Given the description of an element on the screen output the (x, y) to click on. 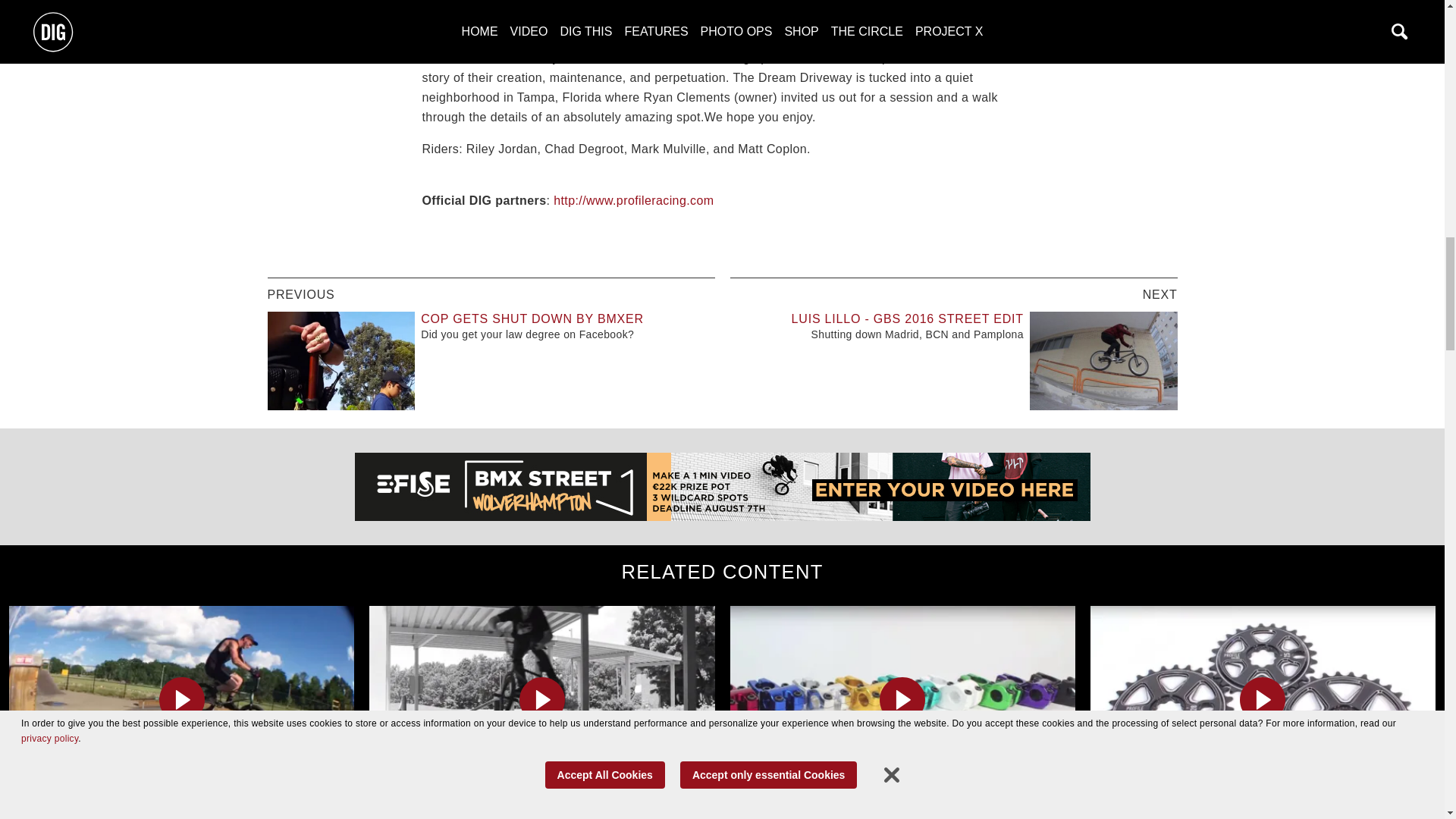
LUIS LILLO - GBS 2016 STREET EDIT (907, 318)
COP GETS SHUT DOWN BY BMXER (531, 318)
PROFILE - ZACH ROGERS 2014 (541, 814)
DILLON LEEPER - PROFILE ZCOASTER (181, 814)
